Given the description of an element on the screen output the (x, y) to click on. 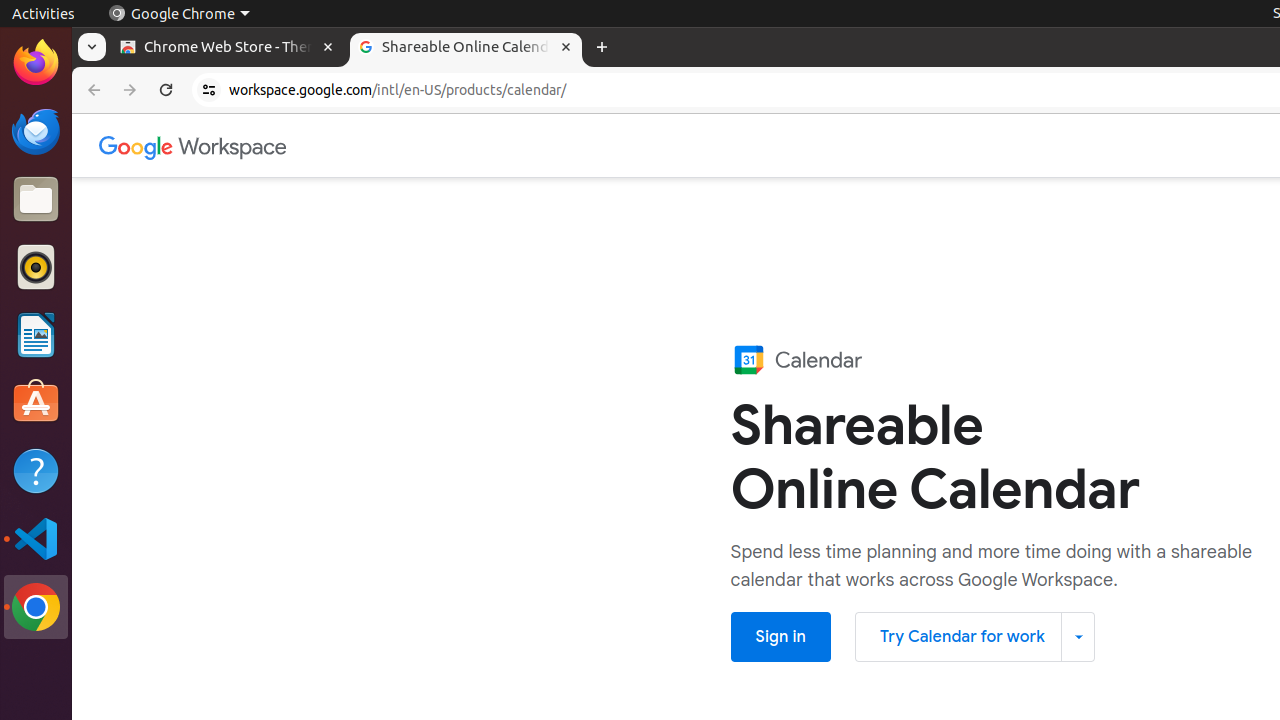
View site information Element type: push-button (209, 90)
Thunderbird Mail Element type: push-button (36, 131)
Rhythmbox Element type: push-button (36, 267)
Reload Element type: push-button (166, 90)
Google Workspace Element type: link (194, 146)
